Given the description of an element on the screen output the (x, y) to click on. 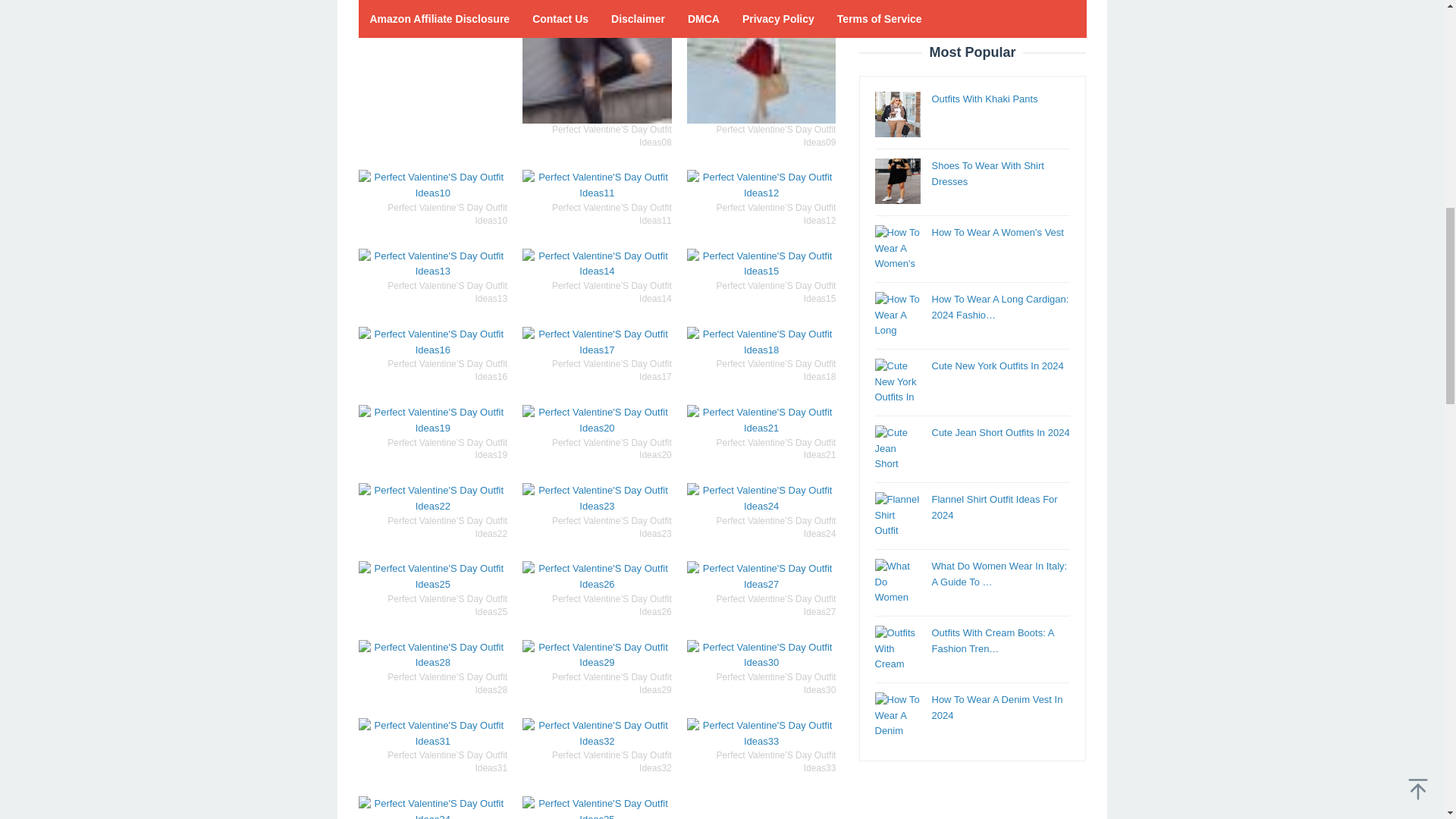
Perfect Valentine'S Day Outfit Ideas08 (596, 61)
Perfect Valentine'S Day Outfit Ideas11 (596, 185)
Perfect Valentine'S Day Outfit Ideas09 (761, 61)
Perfect Valentine'S Day Outfit Ideas12 (761, 185)
Perfect Valentine'S Day Outfit Ideas13 (432, 264)
Perfect Valentine'S Day Outfit Ideas07 (432, 2)
Perfect Valentine'S Day Outfit Ideas14 (596, 264)
Perfect Valentine'S Day Outfit Ideas10 (432, 185)
